Given the description of an element on the screen output the (x, y) to click on. 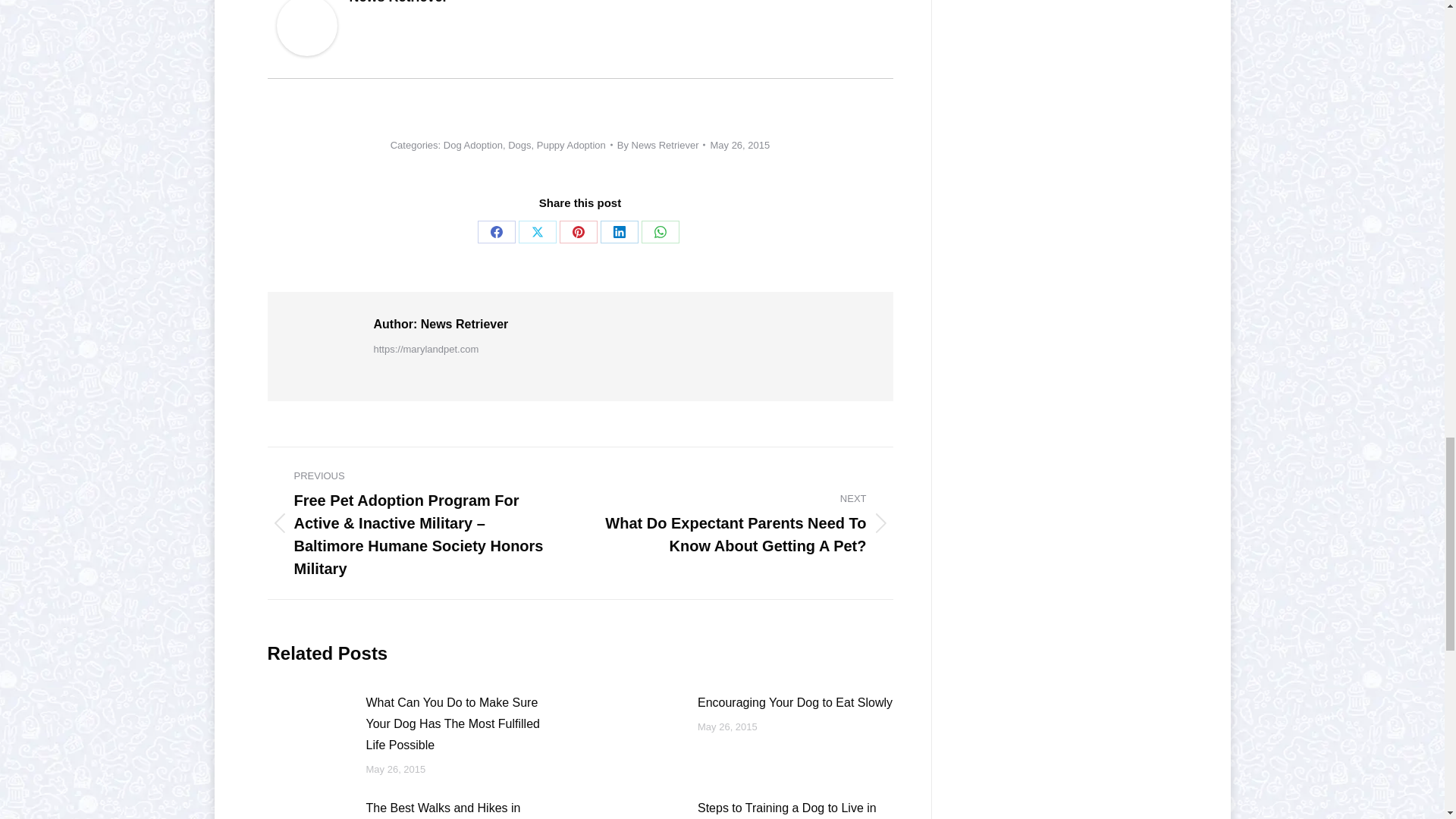
News Retriever (306, 51)
View all posts by News Retriever (661, 144)
5:58 pm (740, 144)
